Given the description of an element on the screen output the (x, y) to click on. 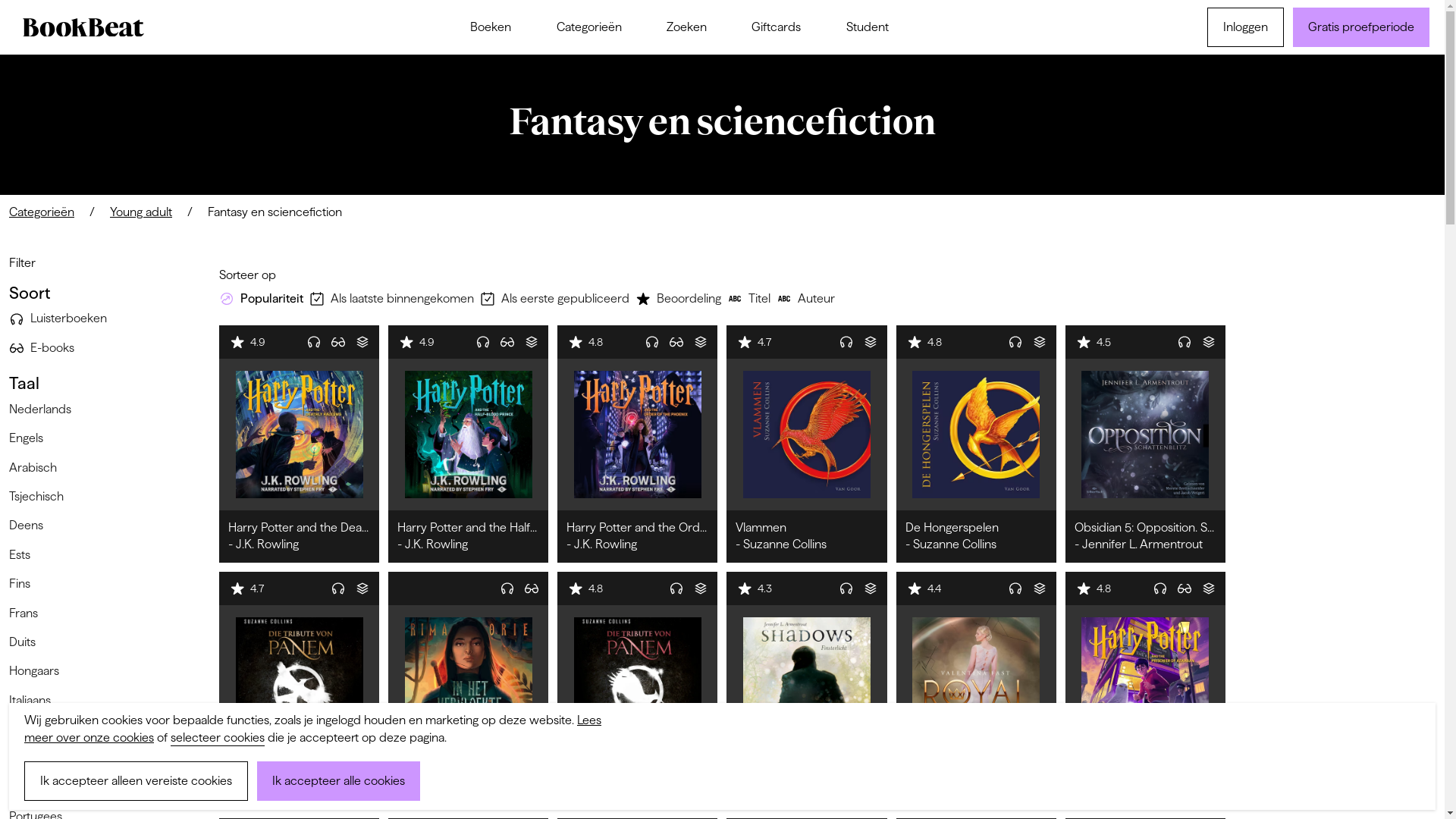
Young adult Element type: text (140, 212)
Noors Element type: text (28, 729)
In het vervloekte hart Element type: hover (468, 680)
Inloggen Element type: text (1245, 27)
Royal 3: Ein Schloss aus Alabaster Element type: hover (976, 680)
Zoeken Element type: text (686, 26)
E-books Element type: text (44, 347)
Student Element type: text (867, 26)
Gratis proefperiode Element type: text (1360, 27)
Ik accepteer alleen vereiste cookies Element type: text (135, 780)
Harry Potter and the Prisoner of Azkaban Element type: hover (1145, 680)
Harry Potter and the Order of the Phoenix Element type: hover (637, 434)
Arabisch Element type: text (35, 467)
4.4
Royal 3: Ein Schloss aus Alabaster
- Valentina Fast Element type: text (976, 690)
Beoordeling Element type: text (681, 298)
Auteur Element type: text (808, 298)
Tsjechisch Element type: text (39, 496)
Harry Potter and the Deathly Hallows Element type: hover (299, 434)
Als eerste gepubliceerd Element type: text (557, 298)
4.9
Harry Potter and the Half-Blood Prince
- J.K. Rowling Element type: text (468, 443)
4.8
De Hongerspelen
- Suzanne Collins Element type: text (976, 443)
Noors Nynorsk Element type: text (51, 758)
4.9
Harry Potter and the Deathly Hallows
- J.K. Rowling Element type: text (299, 443)
Lees meer over onze cookies Element type: text (312, 728)
Ik accepteer alle cookies Element type: text (338, 780)
Shadows. Finsterlicht (Obsidian-Prequel) Element type: hover (806, 680)
Populariteit Element type: text (264, 298)
Deens Element type: text (29, 525)
Obsidian 5: Opposition. Schattenblitz Element type: hover (1145, 434)
Ests Element type: text (22, 554)
Als laatste binnengekomen Element type: text (394, 298)
Luisterboeken Element type: text (60, 318)
Vlammen Element type: hover (806, 434)
Boeken Element type: text (490, 26)
Duits Element type: text (25, 641)
In het vervloekte hart
- Rima Orie Element type: text (468, 690)
De Hongerspelen Element type: hover (976, 434)
4.8
Harry Potter and the Order of the Phoenix
- J.K. Rowling Element type: text (637, 443)
4.8
Harry Potter and the Prisoner of Azkaban
- J.K. Rowling Element type: text (1145, 690)
Pools Element type: text (26, 787)
Giftcards Element type: text (775, 26)
Nederlands Element type: text (43, 409)
Titel Element type: text (751, 298)
Engels Element type: text (29, 437)
Harry Potter and the Half-Blood Prince Element type: hover (468, 434)
Fins Element type: text (22, 583)
4.7
Vlammen
- Suzanne Collins Element type: text (806, 443)
Italiaans Element type: text (32, 700)
Hongaars Element type: text (37, 670)
Frans Element type: text (26, 613)
Die Tribute von Panem 3. Flammender Zorn Element type: hover (299, 680)
selecteer cookies Element type: text (217, 737)
